Given the description of an element on the screen output the (x, y) to click on. 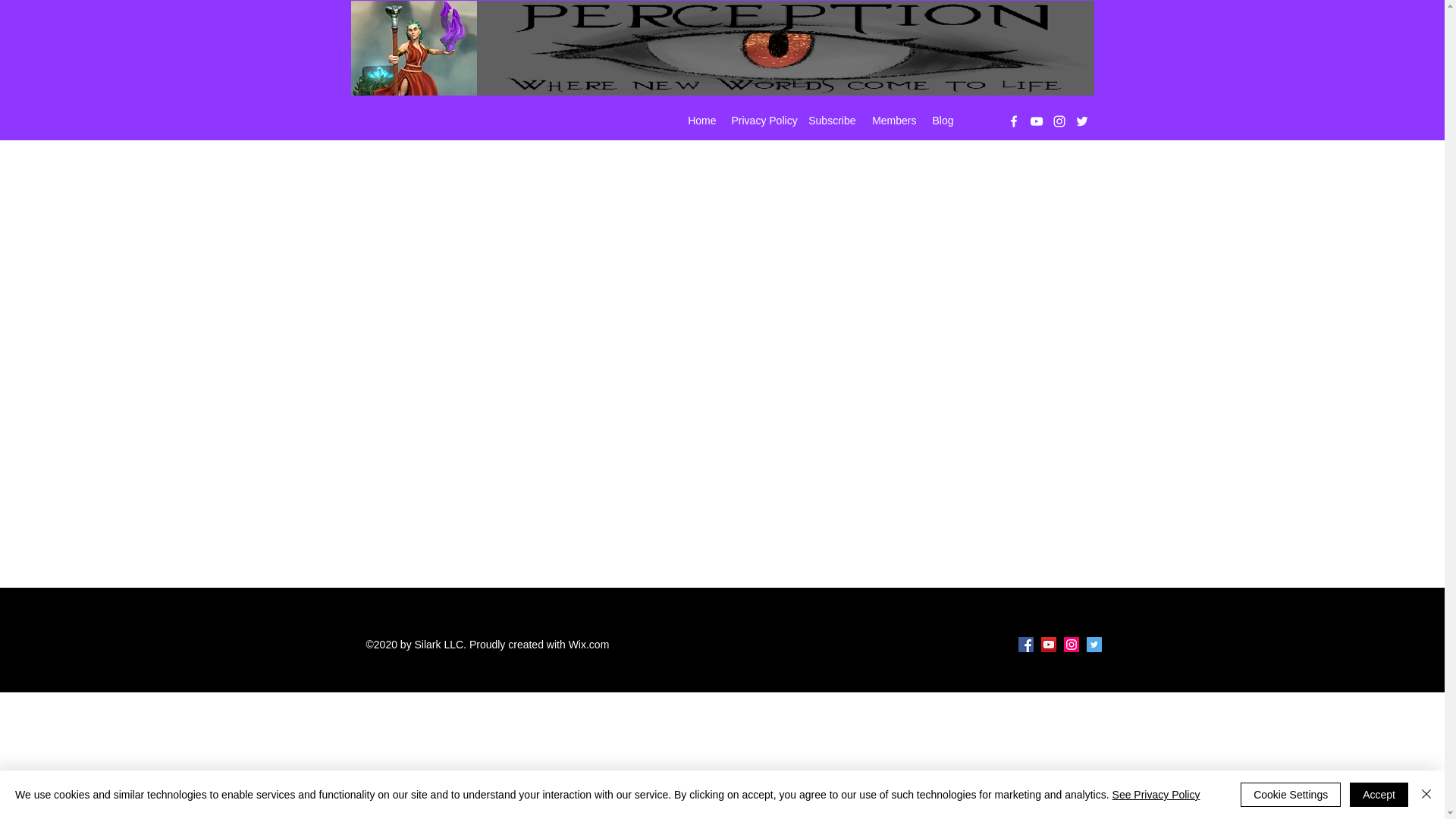
Privacy Policy (761, 119)
Accept (1378, 794)
Subscribe (831, 119)
Members (893, 119)
Blog (941, 119)
Log In (610, 124)
Cookie Settings (1290, 794)
See Privacy Policy (1155, 794)
Home (701, 119)
Wix.com (589, 644)
